Given the description of an element on the screen output the (x, y) to click on. 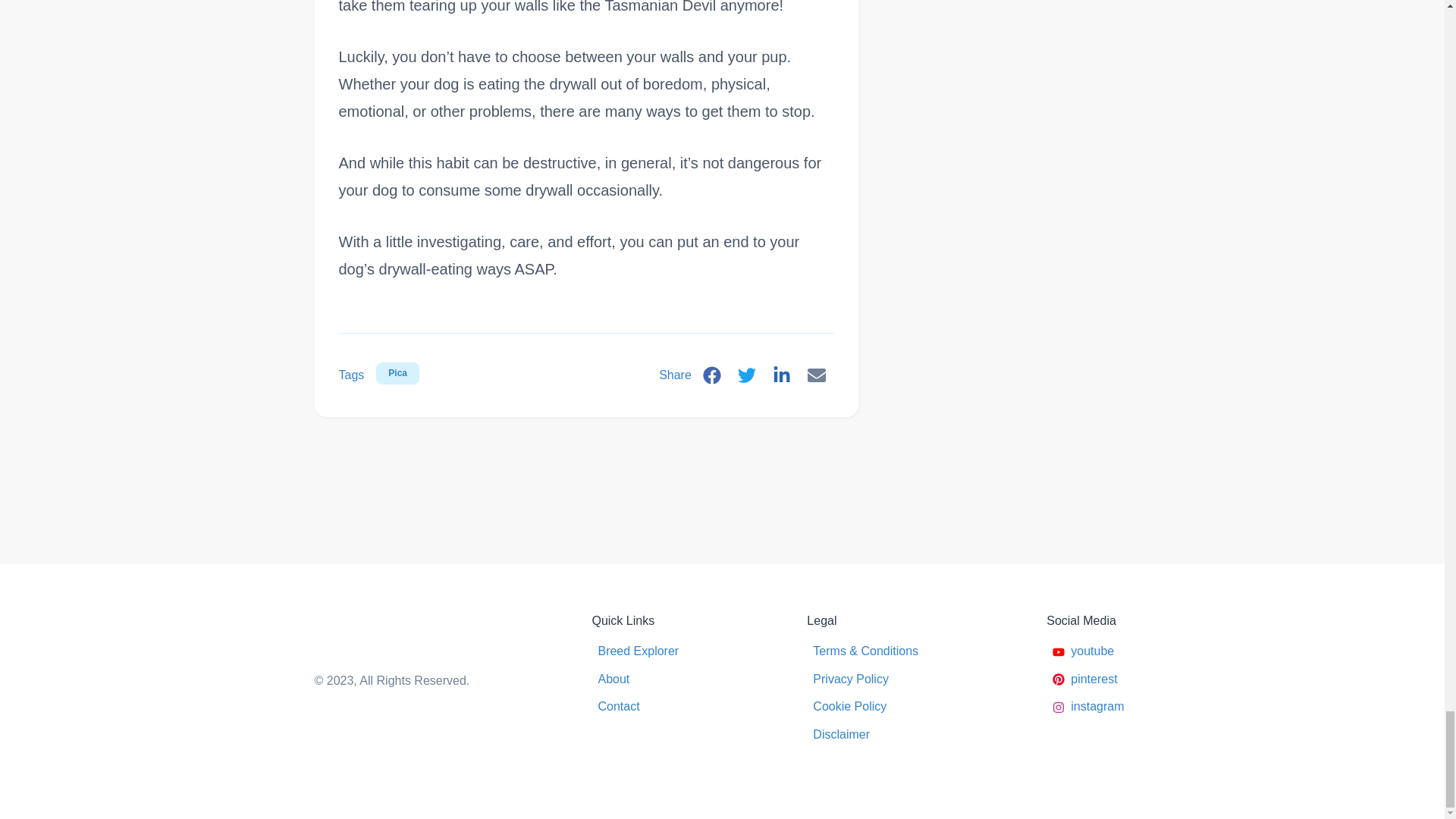
Pica (397, 373)
